Given the description of an element on the screen output the (x, y) to click on. 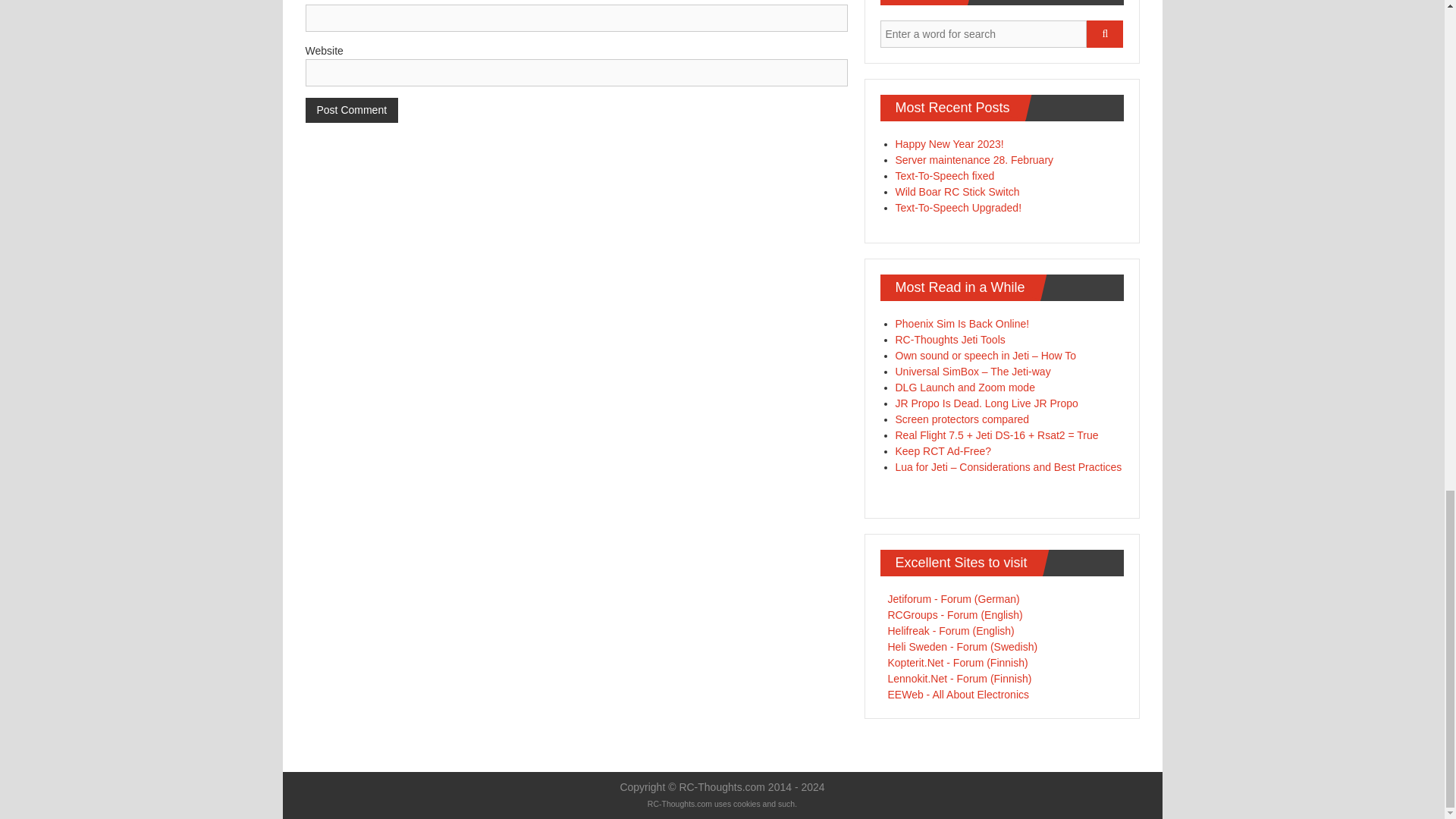
Post Comment (350, 109)
